Given the description of an element on the screen output the (x, y) to click on. 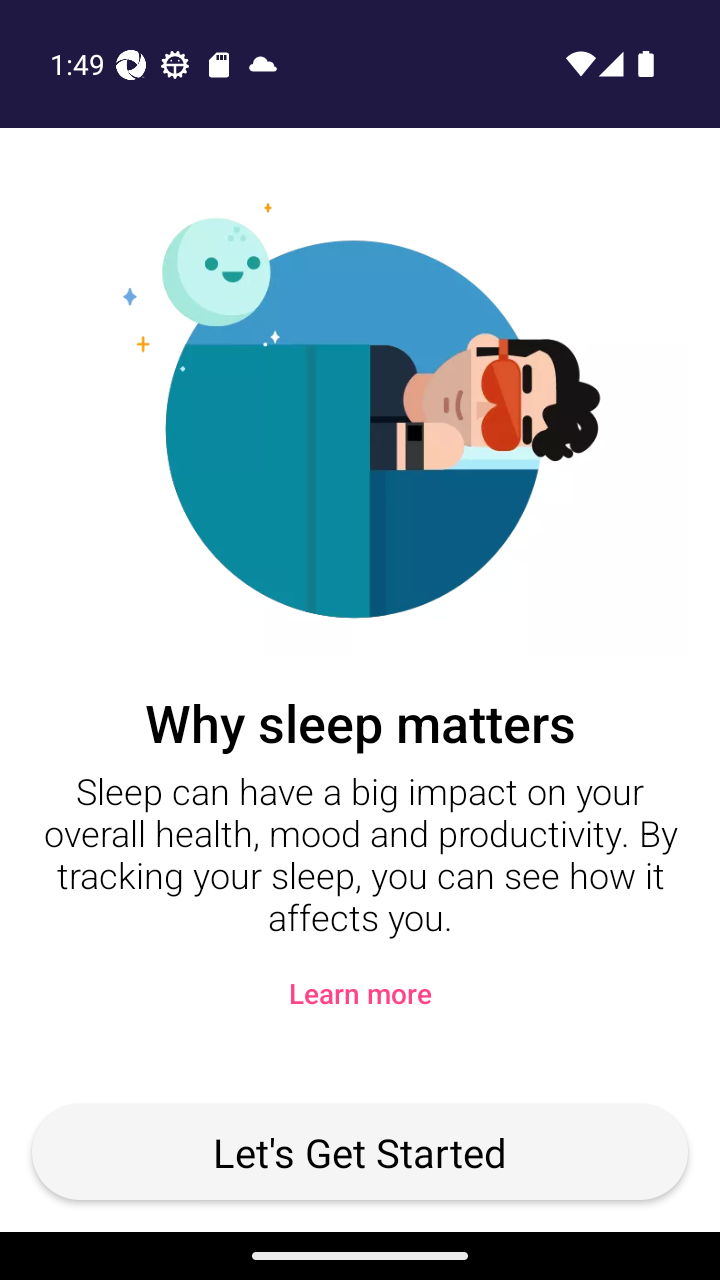
Learn more (359, 992)
Let's Get Started (359, 1151)
